Given the description of an element on the screen output the (x, y) to click on. 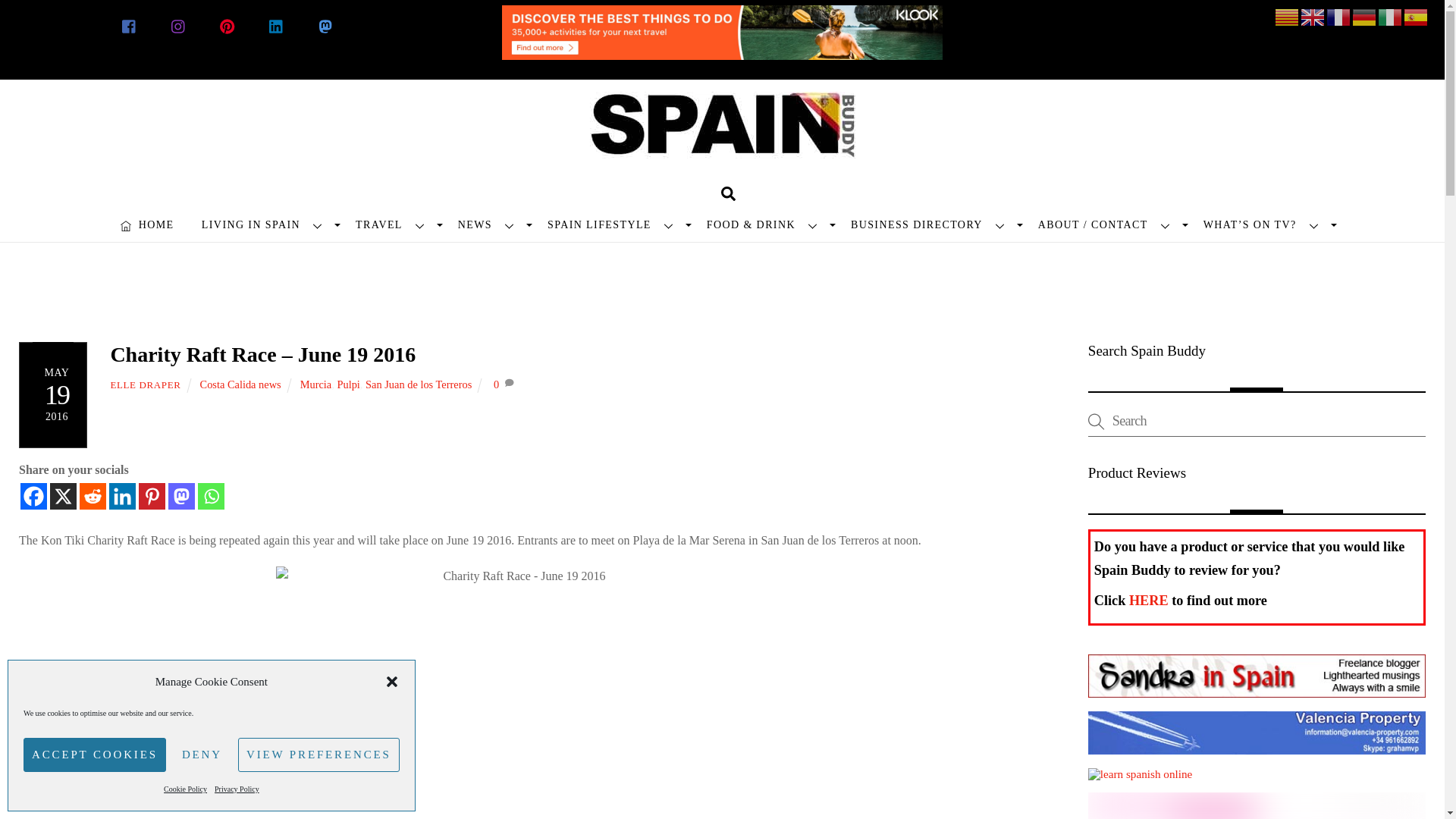
ACCEPT COOKIES (94, 754)
DENY (201, 754)
Reddit (93, 496)
X (63, 496)
English (1313, 16)
Facebook (33, 496)
HOME (146, 224)
Cookie Policy (184, 789)
TRAVEL (392, 224)
Spain Buddy (722, 137)
